Given the description of an element on the screen output the (x, y) to click on. 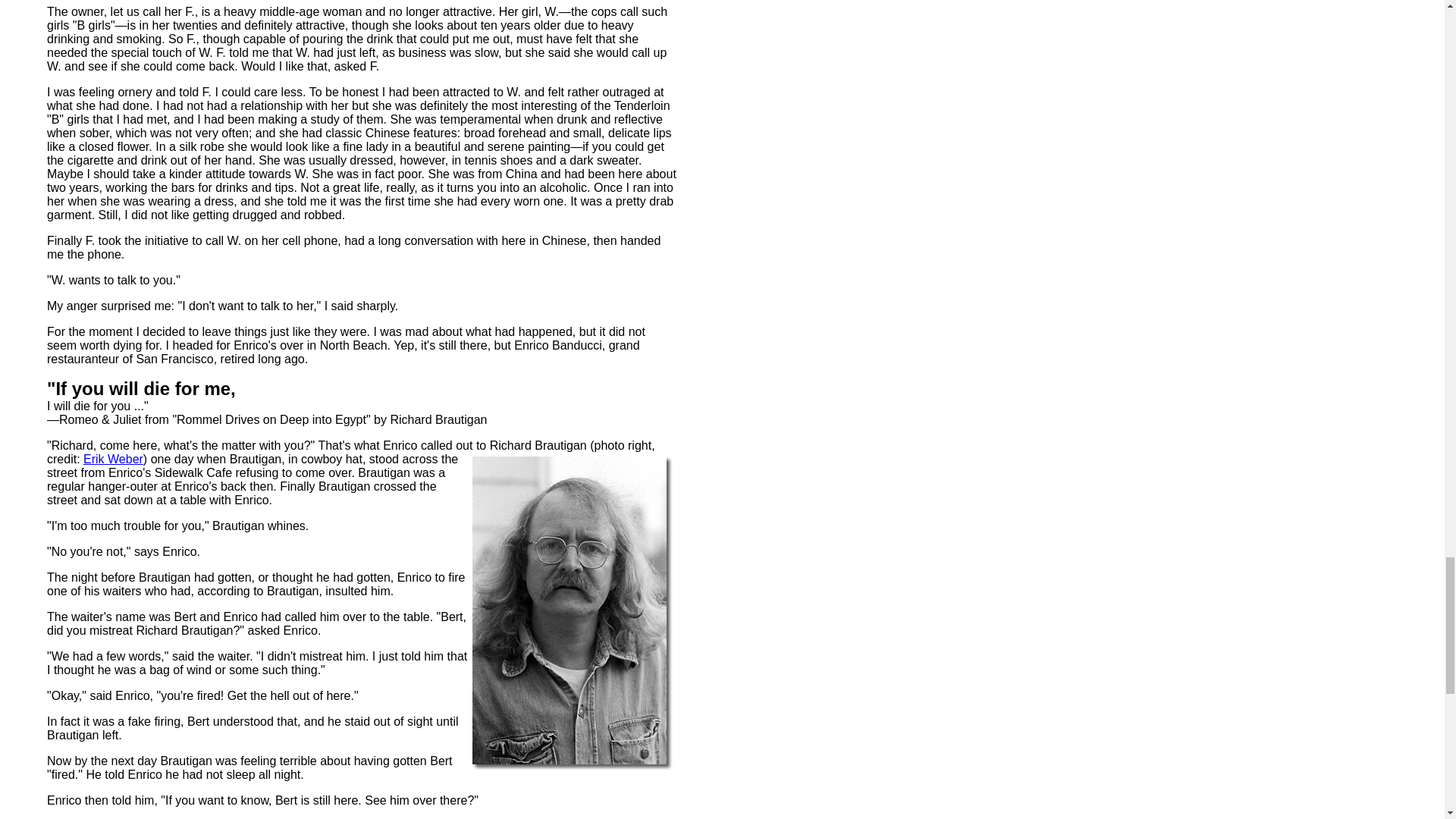
Erik Weber (112, 459)
